Given the description of an element on the screen output the (x, y) to click on. 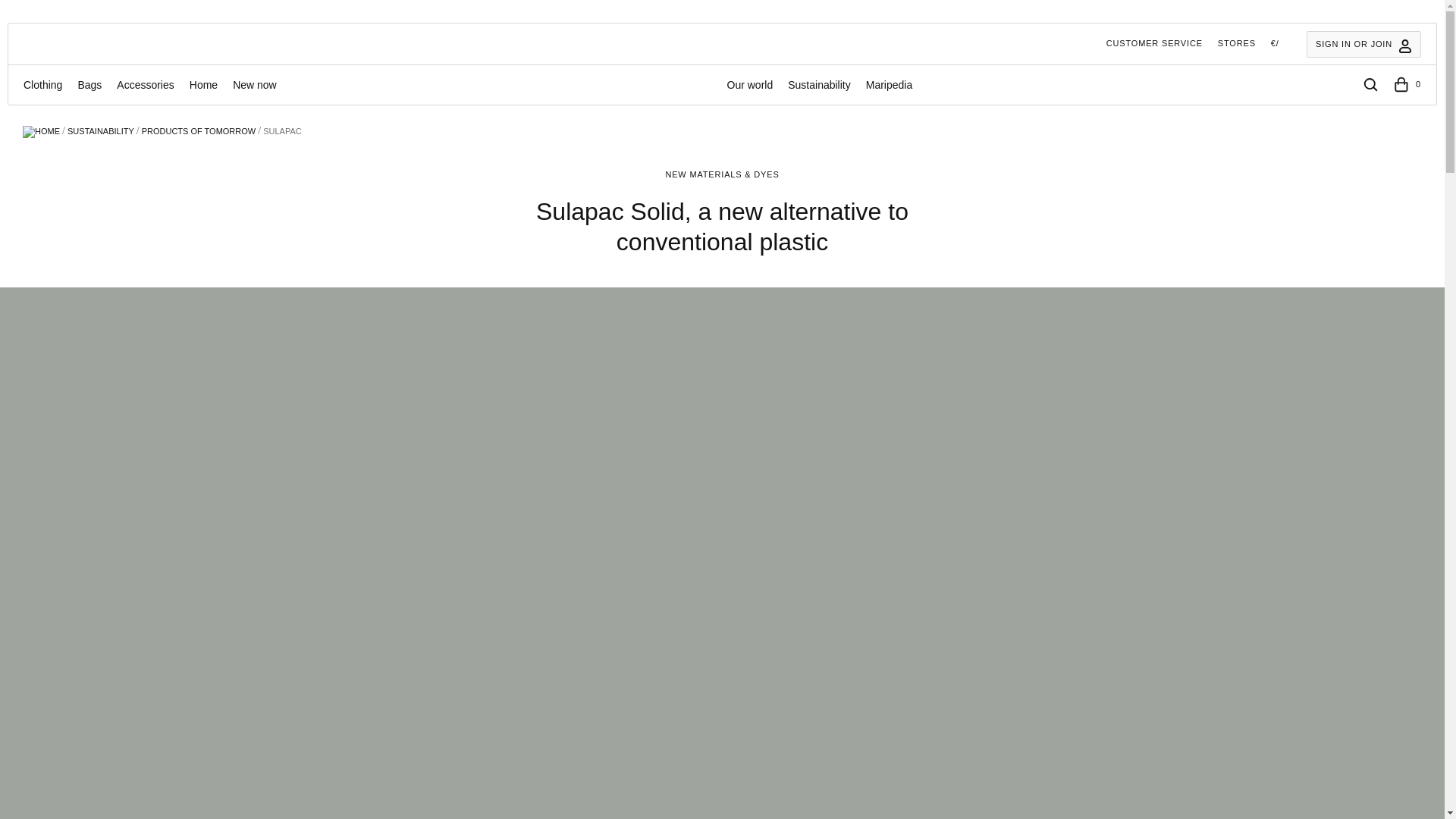
Clothing (42, 84)
SIGN IN OR JOIN (1363, 43)
Bags (89, 84)
STORES (1236, 43)
CUSTOMER SERVICE (1154, 43)
